Given the description of an element on the screen output the (x, y) to click on. 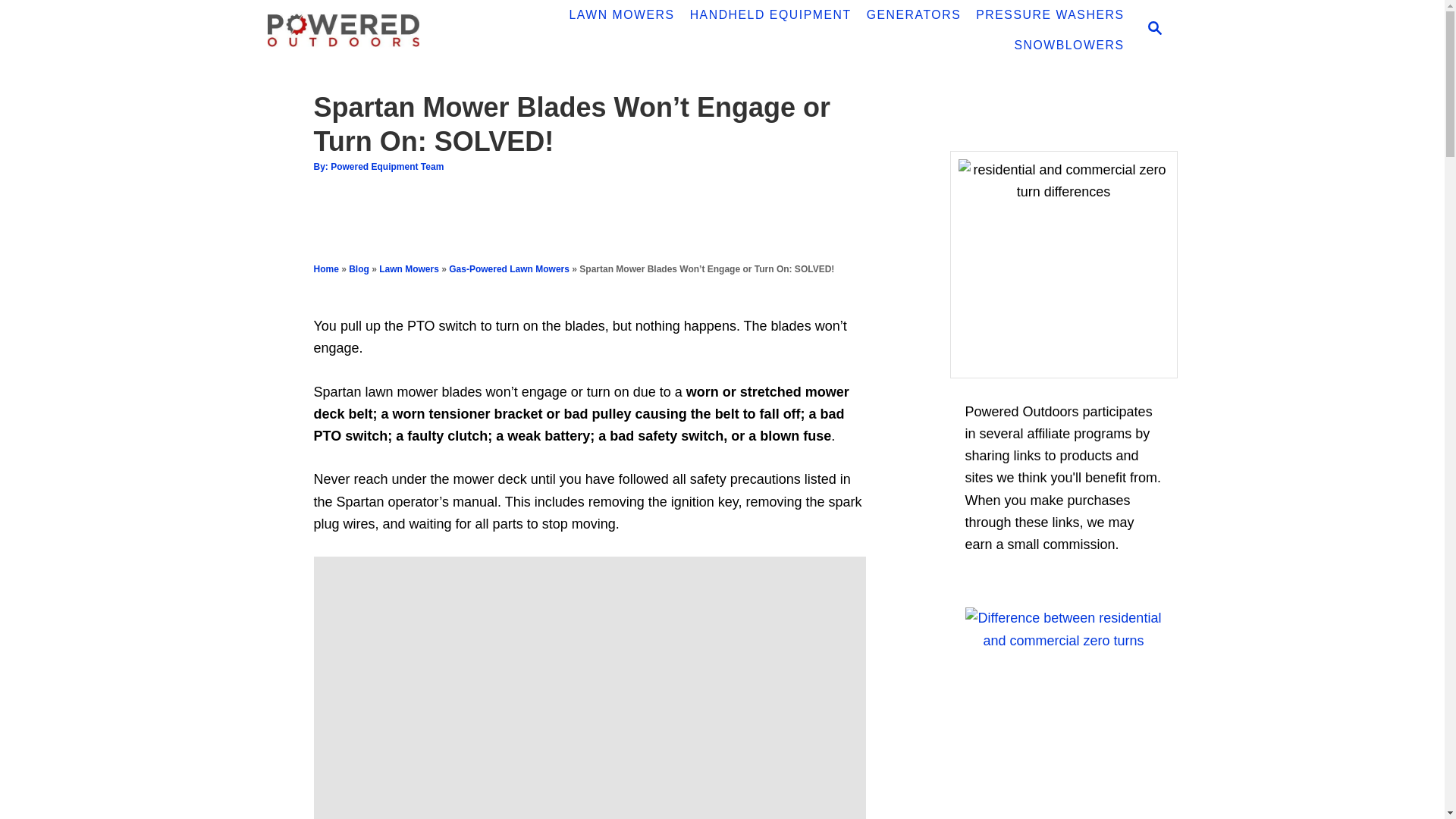
SNOWBLOWERS (1068, 45)
PRESSURE WASHERS (1049, 15)
Home (326, 268)
Gas-Powered Lawn Mowers (508, 268)
HANDHELD EQUIPMENT (770, 15)
GENERATORS (914, 15)
SEARCH (1153, 29)
LAWN MOWERS (620, 15)
Powered Outdoors (373, 30)
Powered Equipment Team (387, 166)
